Given the description of an element on the screen output the (x, y) to click on. 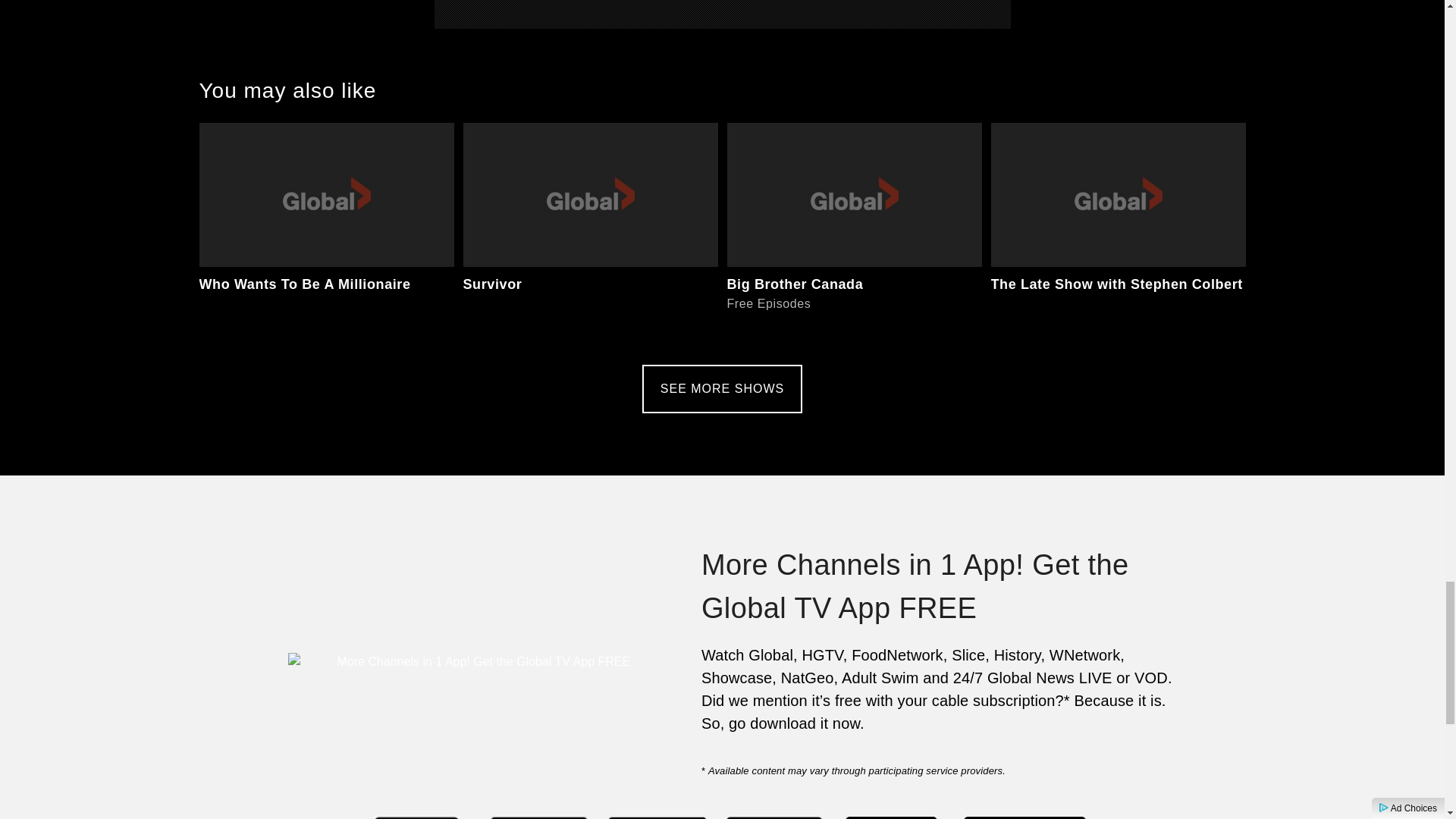
The Late Show with Stephen Colbert (1117, 230)
Survivor (853, 230)
SEE MORE SHOWS (590, 230)
Who Wants To Be A Millionaire (722, 388)
